Given the description of an element on the screen output the (x, y) to click on. 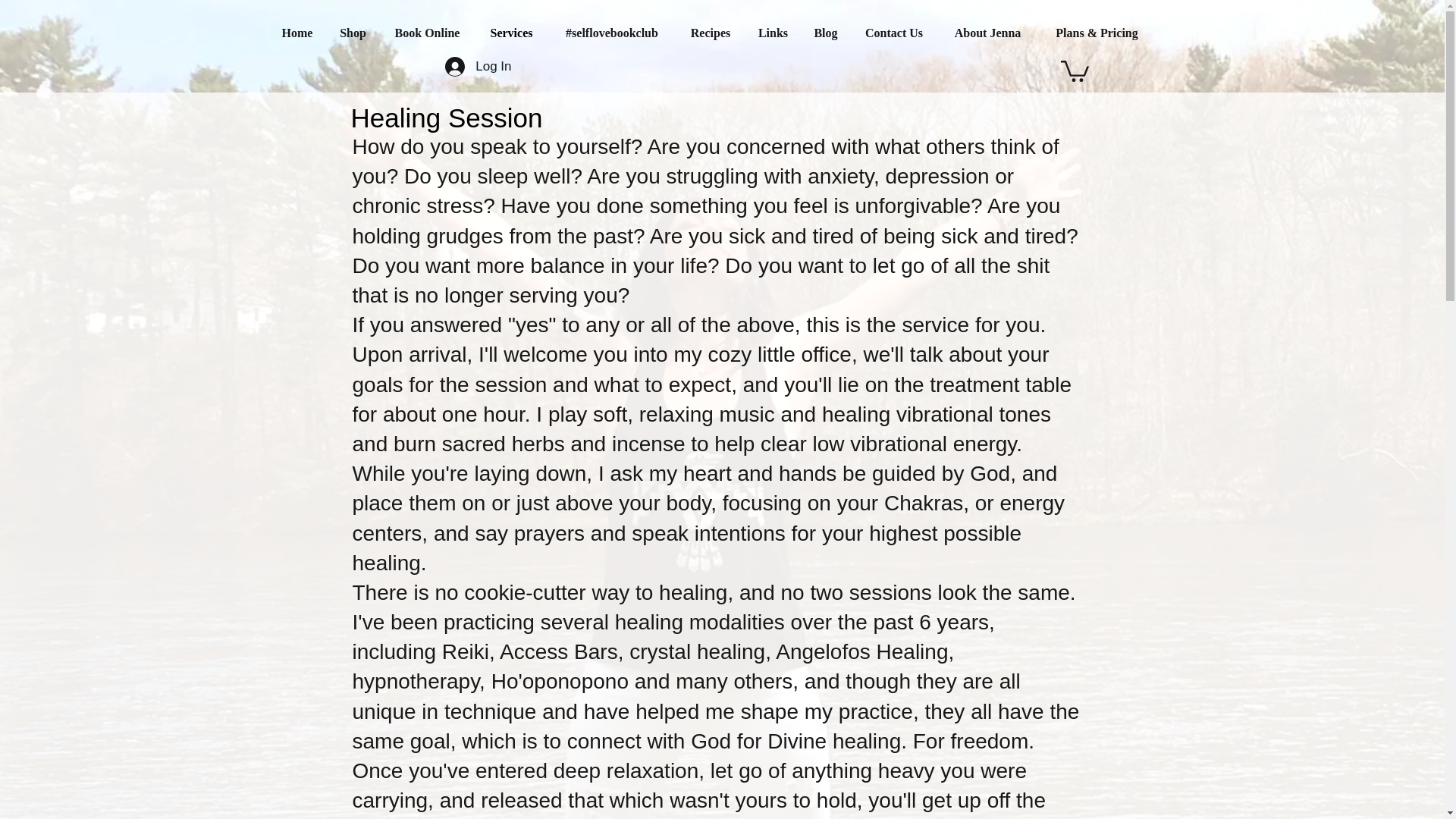
Shop (352, 32)
Links (772, 32)
Home (296, 32)
Blog (825, 32)
Log In (477, 65)
Book Online (426, 32)
Recipes (711, 32)
Services (510, 32)
Contact Us (893, 32)
About Jenna (986, 32)
